Given the description of an element on the screen output the (x, y) to click on. 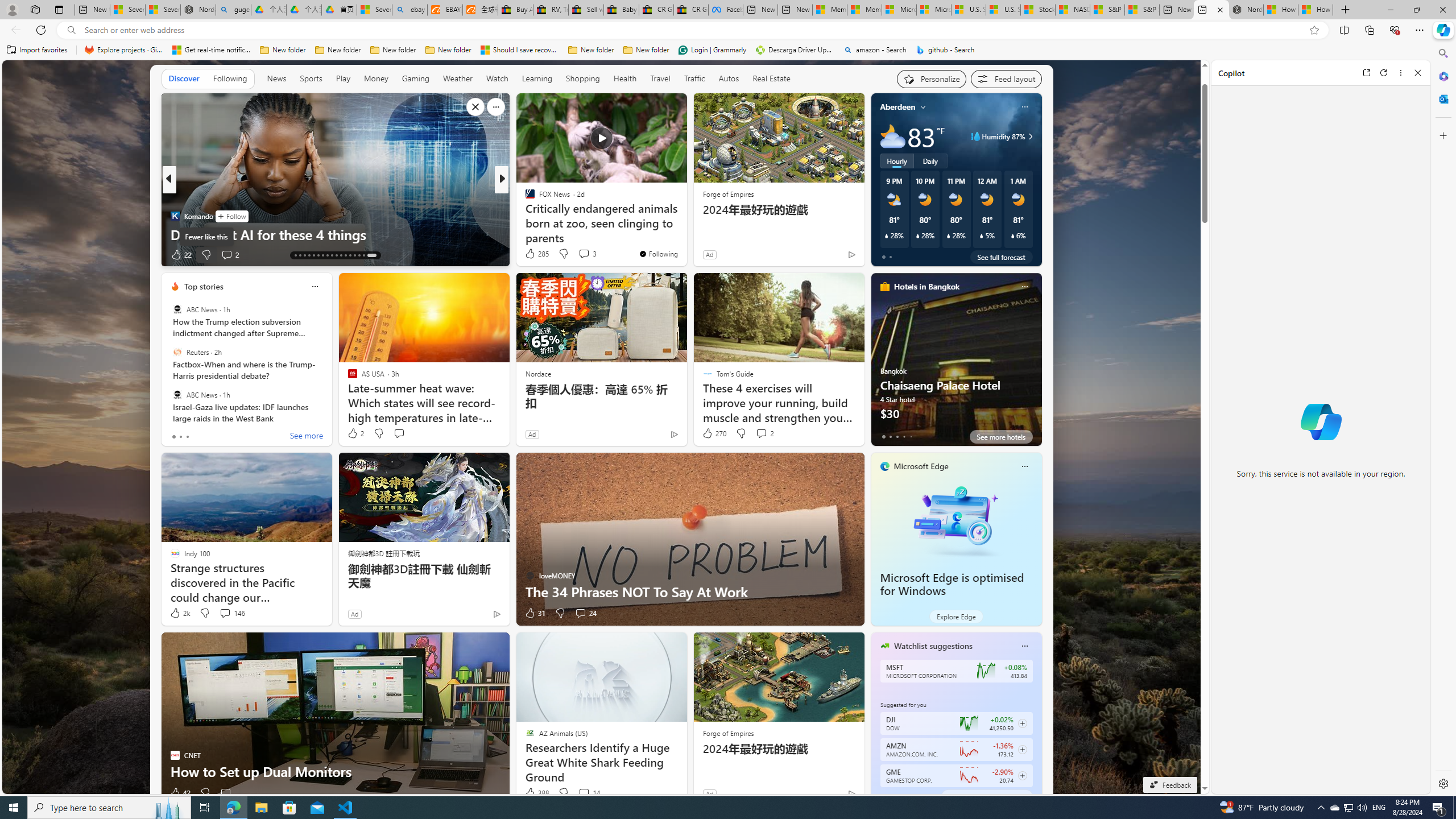
AutomationID: tab-15 (304, 255)
ABC News (176, 394)
Chaisaeng Palace Hotel (956, 363)
How to Use a Monitor With Your Closed Laptop (1315, 9)
Forge of Empires (727, 732)
Autos (729, 78)
Explore Edge (955, 616)
270 Like (713, 433)
tab-2 (897, 795)
Top stories (203, 286)
